Given the description of an element on the screen output the (x, y) to click on. 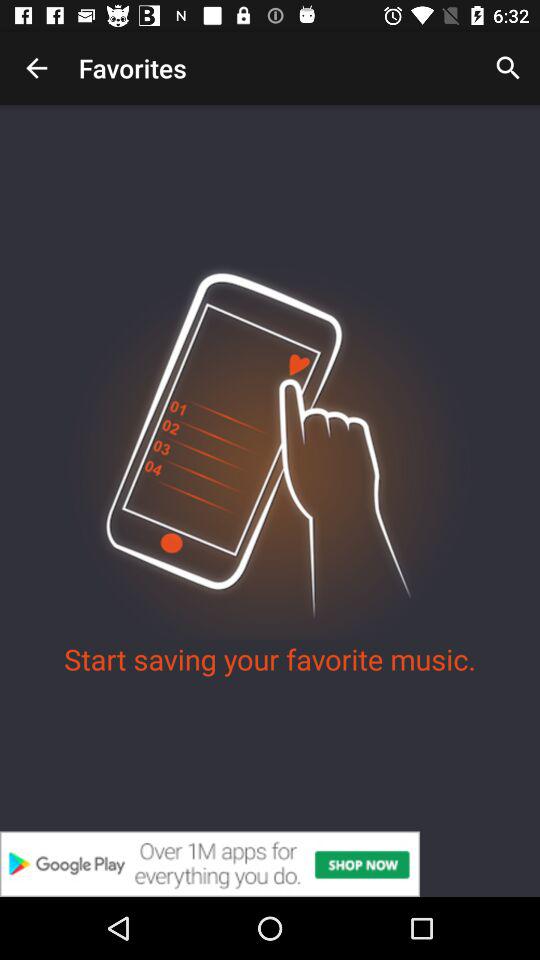
know about the advertisement (270, 864)
